Given the description of an element on the screen output the (x, y) to click on. 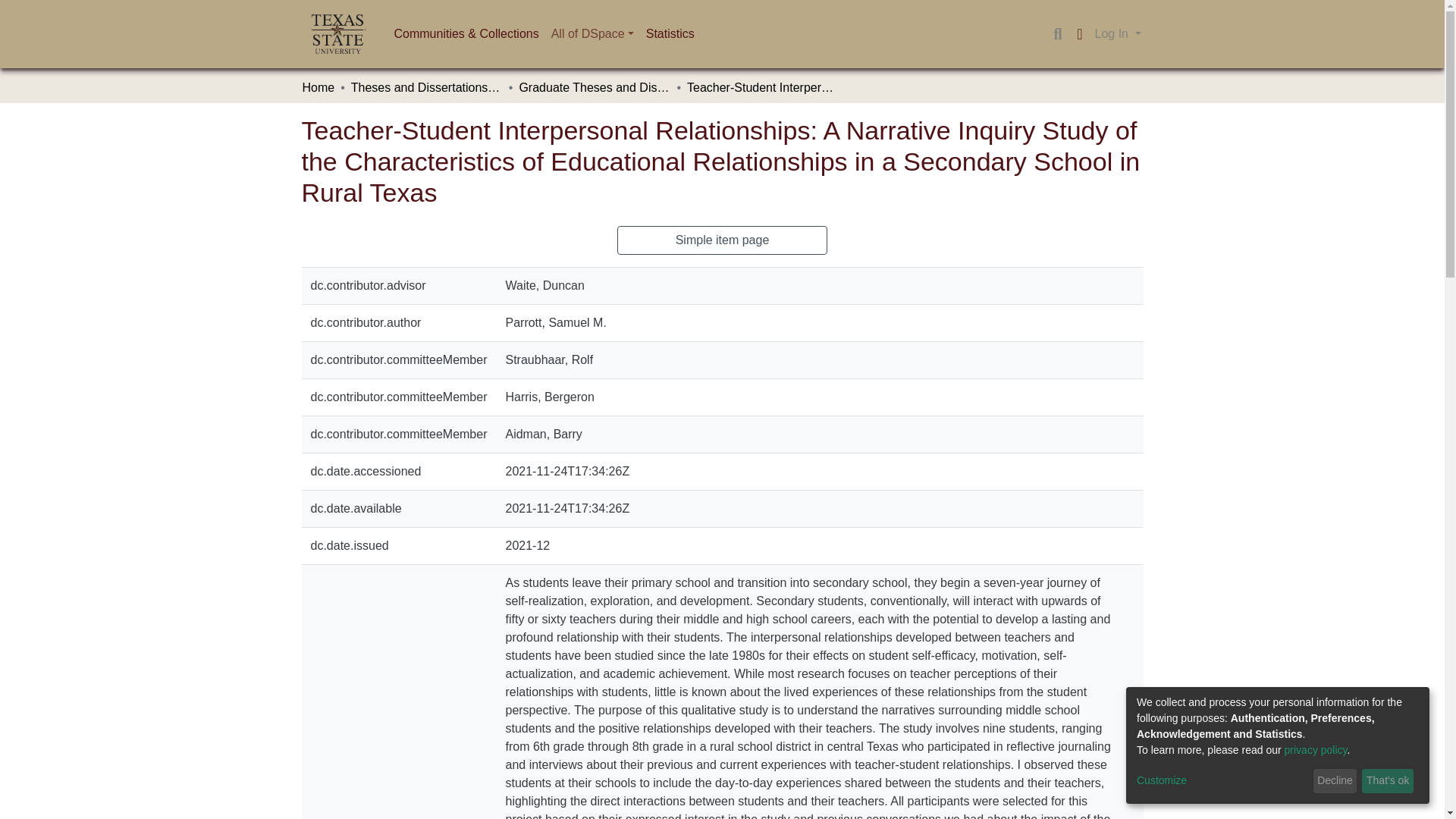
privacy policy (1316, 749)
Statistics (670, 33)
Log In (1117, 33)
That's ok (1387, 781)
Simple item page (722, 240)
Decline (1334, 781)
Customize (1222, 780)
Graduate Theses and Dissertations (593, 87)
Theses and Dissertations, Capstones, and Directed Research (426, 87)
Statistics (670, 33)
Home (317, 87)
All of DSpace (592, 33)
Language switch (1079, 34)
Search (1057, 34)
